Given the description of an element on the screen output the (x, y) to click on. 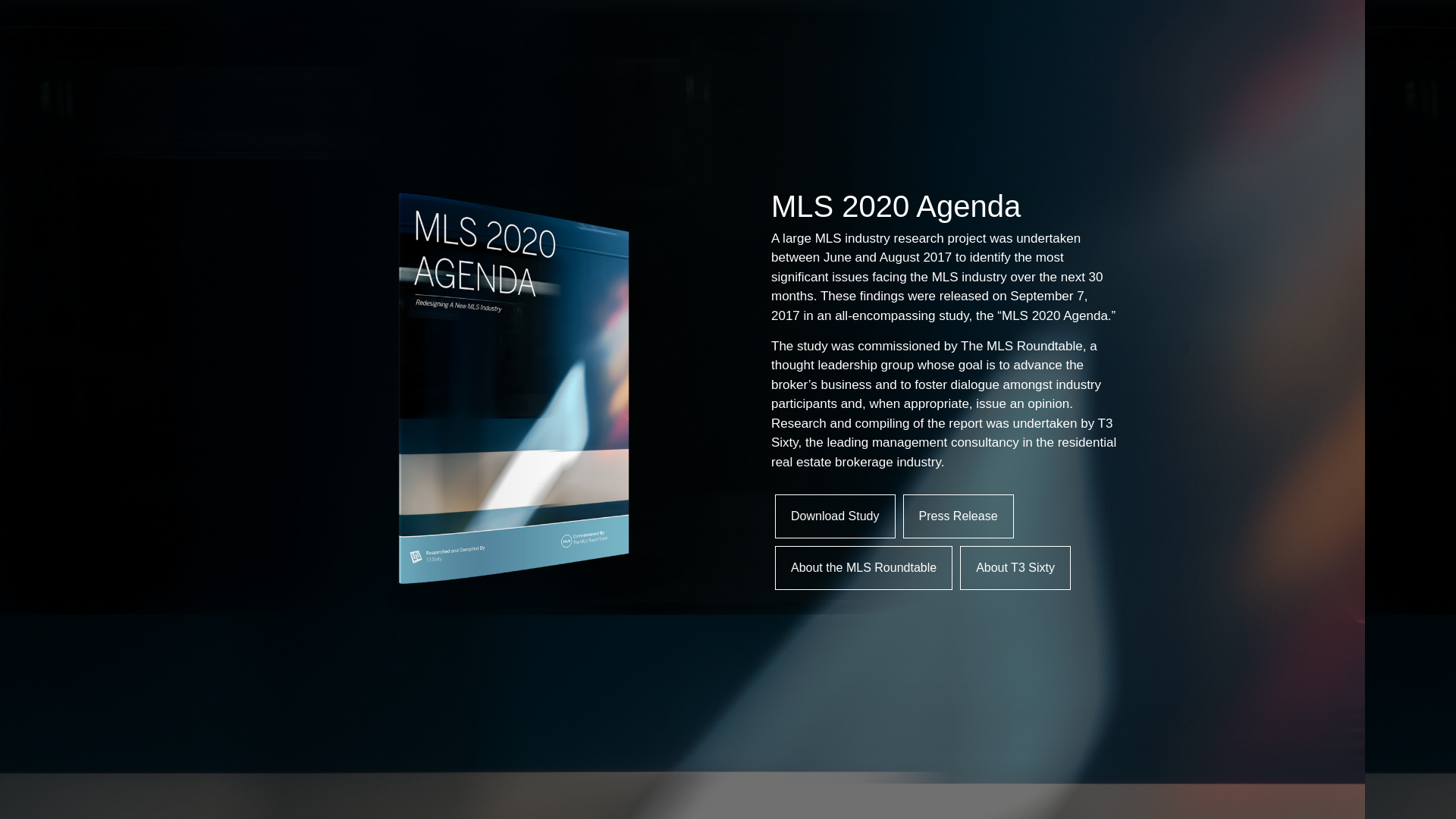
About T3 Sixty (1014, 567)
About the MLS Roundtable (863, 567)
Download Study (834, 516)
Press Release (957, 516)
